Given the description of an element on the screen output the (x, y) to click on. 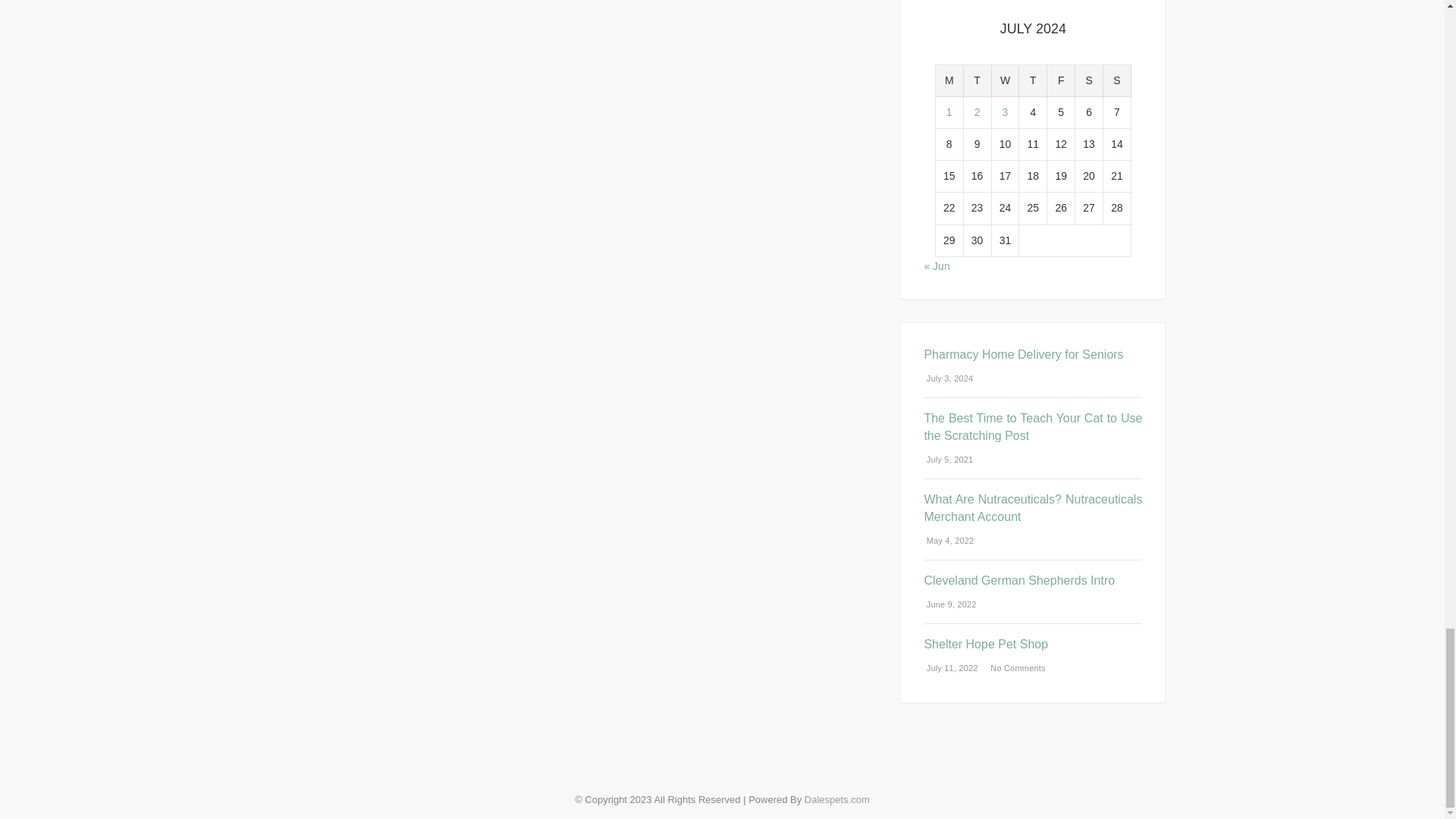
June 9, 2022 (949, 604)
July 5, 2021 (947, 459)
May 4, 2022 (948, 540)
July 3, 2024 (947, 378)
